Given the description of an element on the screen output the (x, y) to click on. 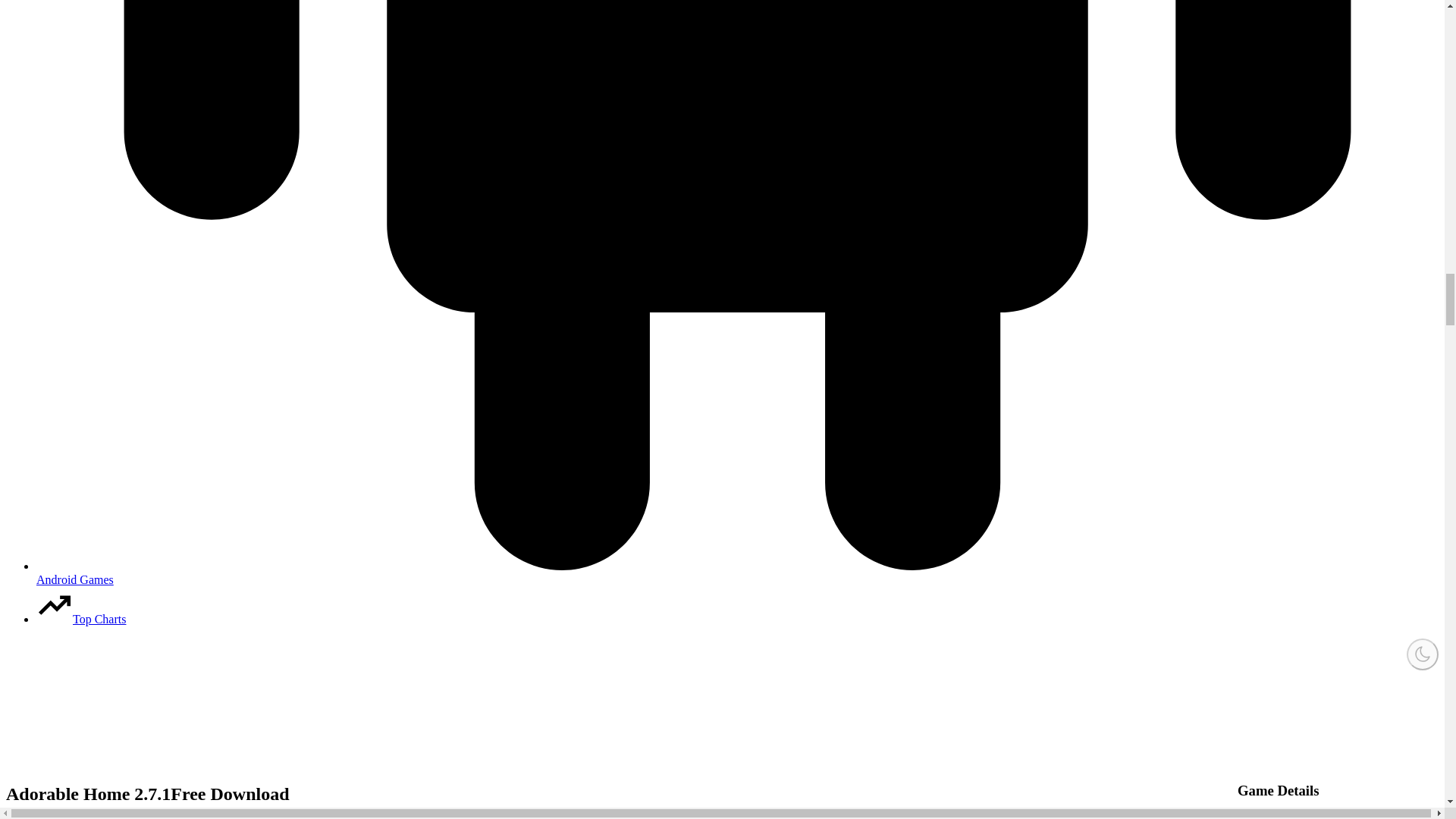
Top Charts (80, 618)
Android Games (737, 572)
Change site theme (1422, 654)
Adorable Home 2.7.1 (603, 793)
